Given the description of an element on the screen output the (x, y) to click on. 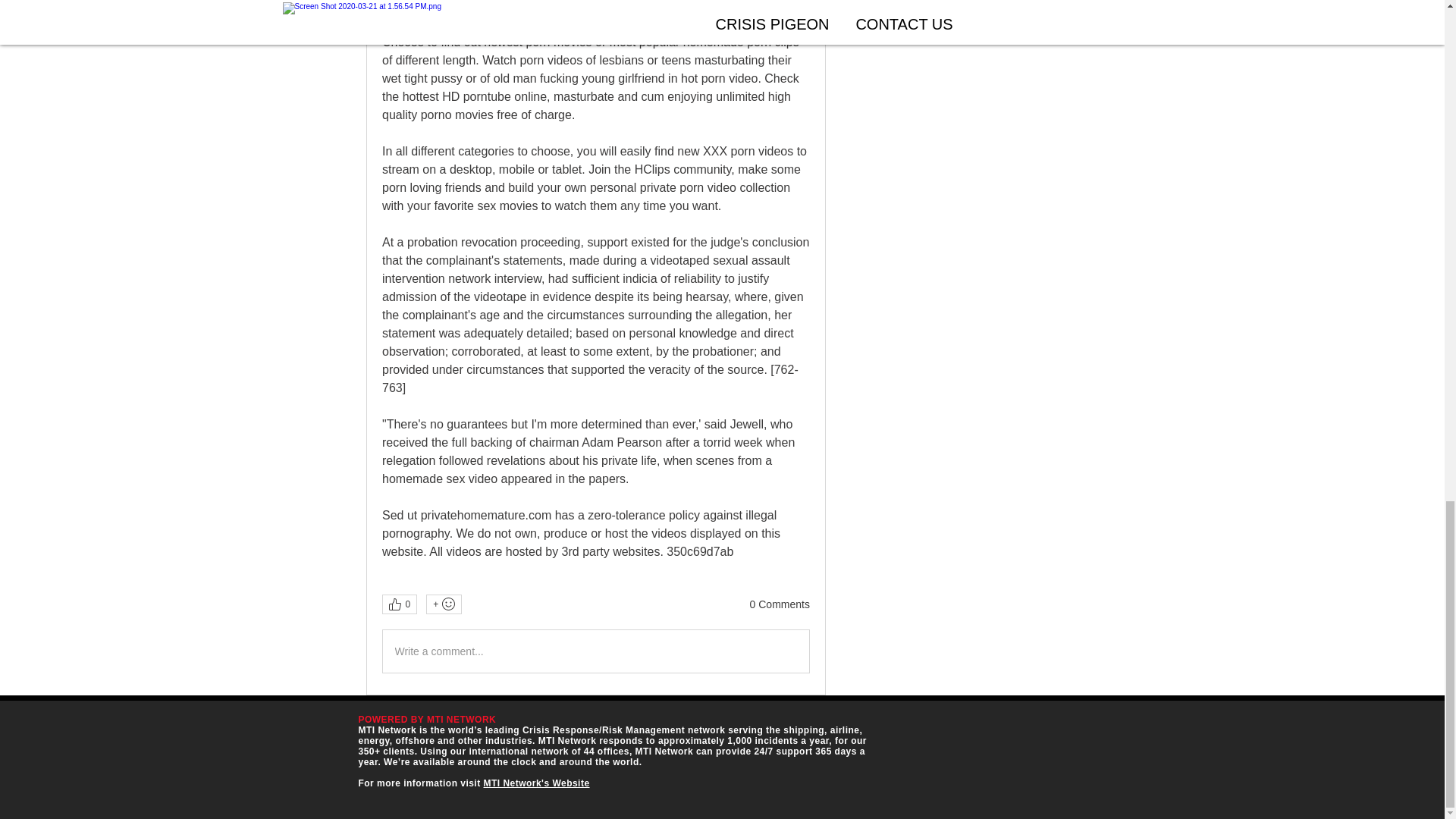
MTI Network's Website (536, 783)
0 Comments (779, 604)
Write a comment... (594, 650)
